Given the description of an element on the screen output the (x, y) to click on. 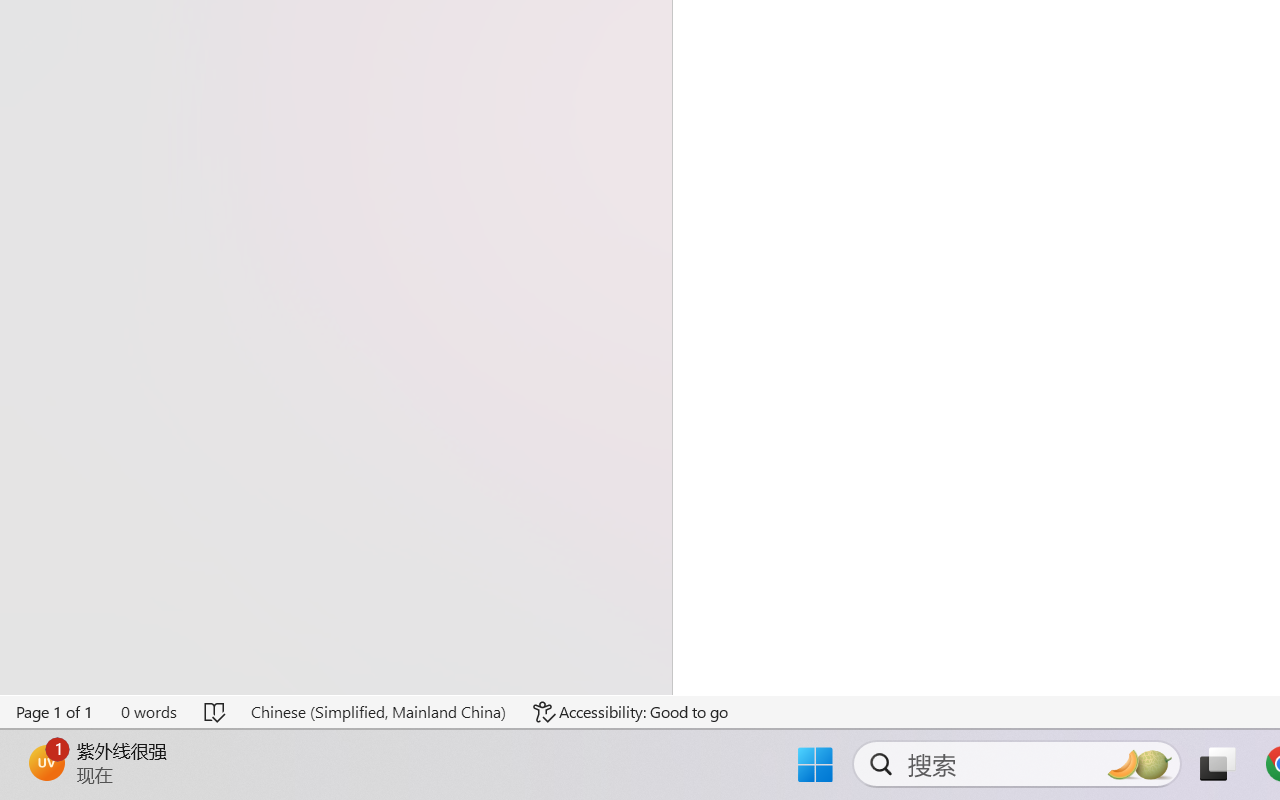
Language Chinese (Simplified, Mainland China) (378, 712)
